Given the description of an element on the screen output the (x, y) to click on. 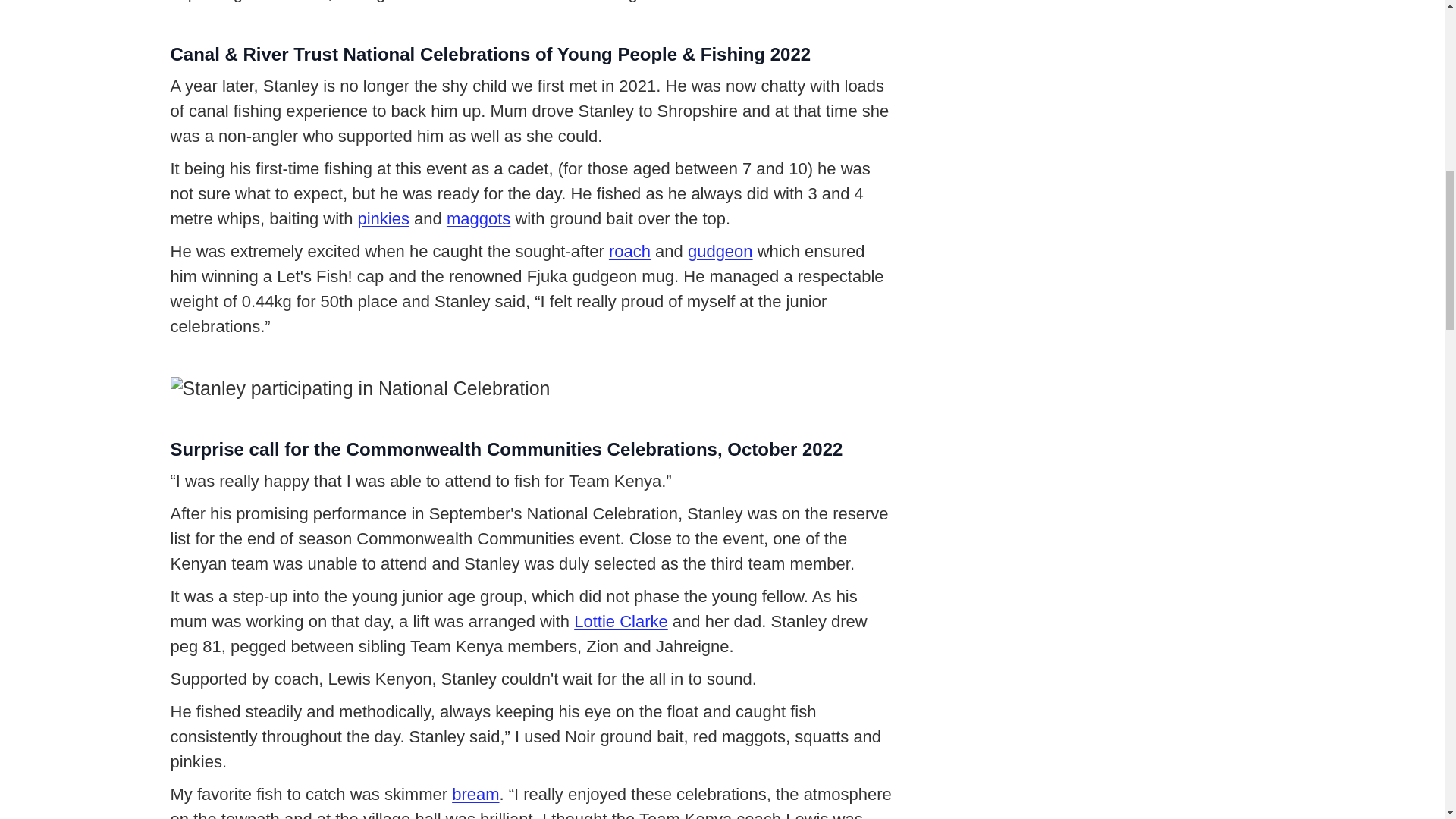
roach (629, 251)
gudgeon (719, 251)
Lottie Clarke (620, 620)
pinkies (383, 218)
bream (475, 793)
maggots (478, 218)
